Given the description of an element on the screen output the (x, y) to click on. 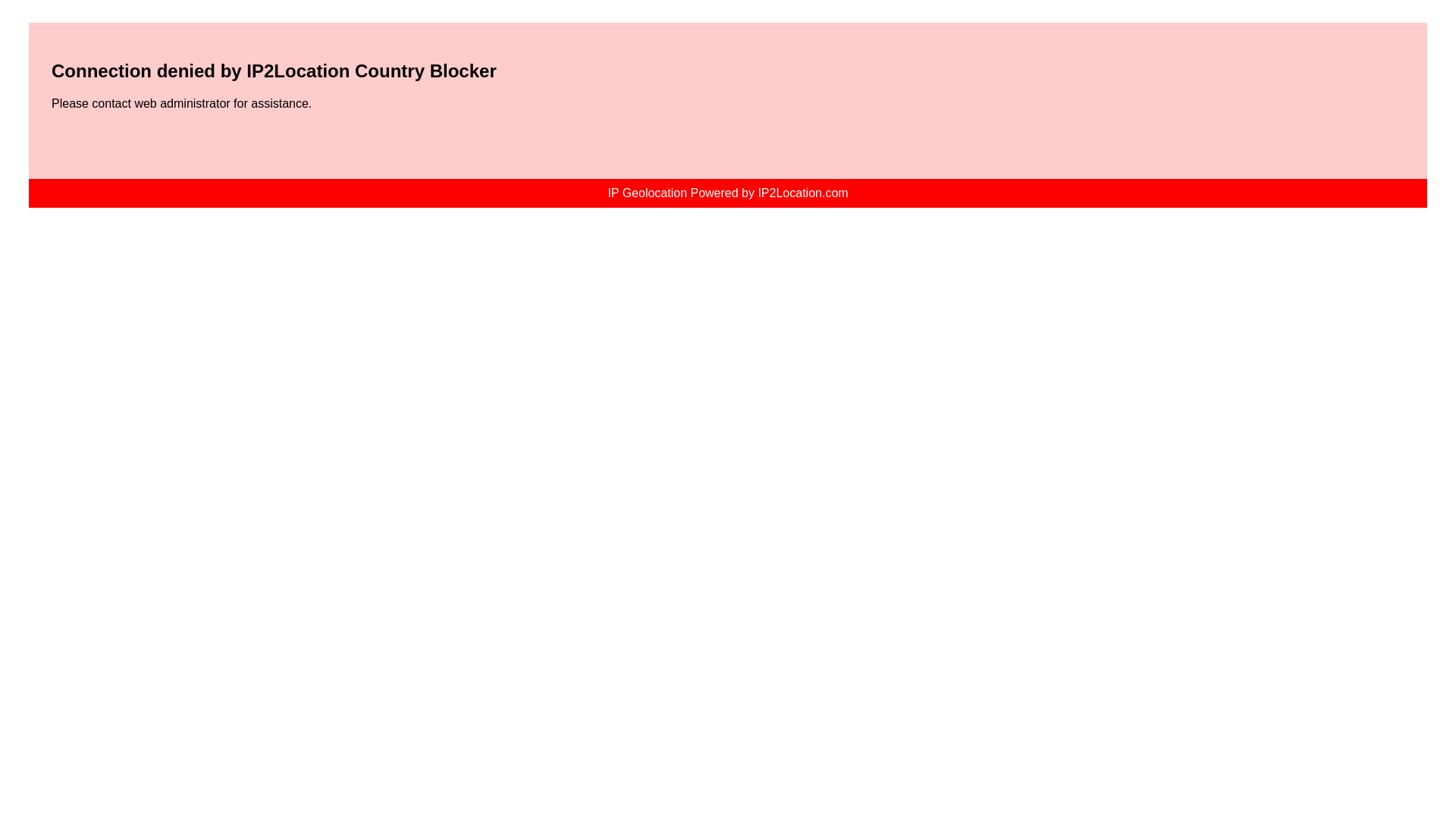
IP Geolocation Powered by IP2Location.com (727, 192)
